Given the description of an element on the screen output the (x, y) to click on. 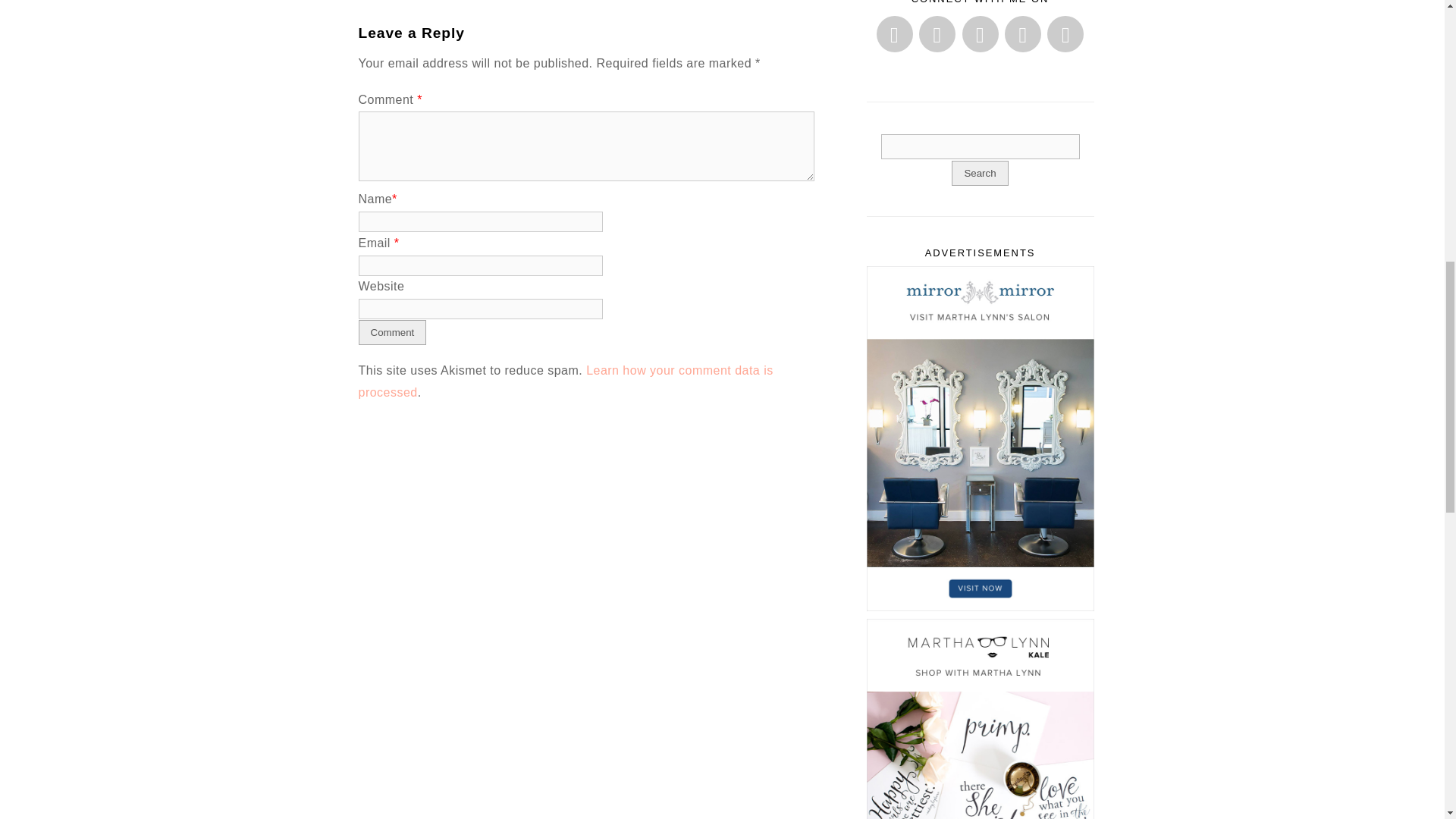
Search (979, 172)
Learn how your comment data is processed (565, 380)
Comment (392, 332)
Comment (392, 332)
Search (980, 146)
